Given the description of an element on the screen output the (x, y) to click on. 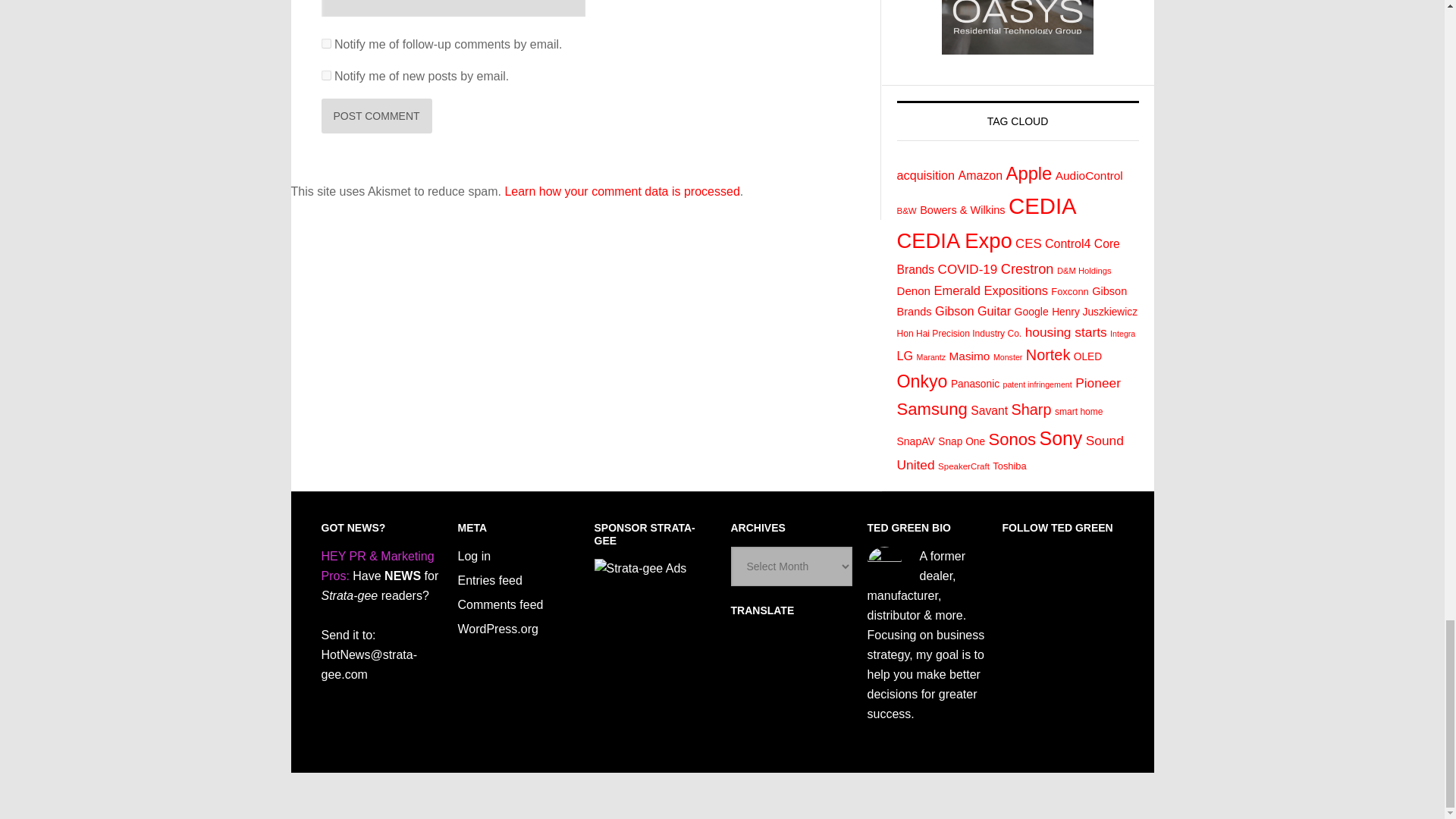
subscribe (326, 75)
Post Comment (376, 115)
subscribe (326, 43)
